Given the description of an element on the screen output the (x, y) to click on. 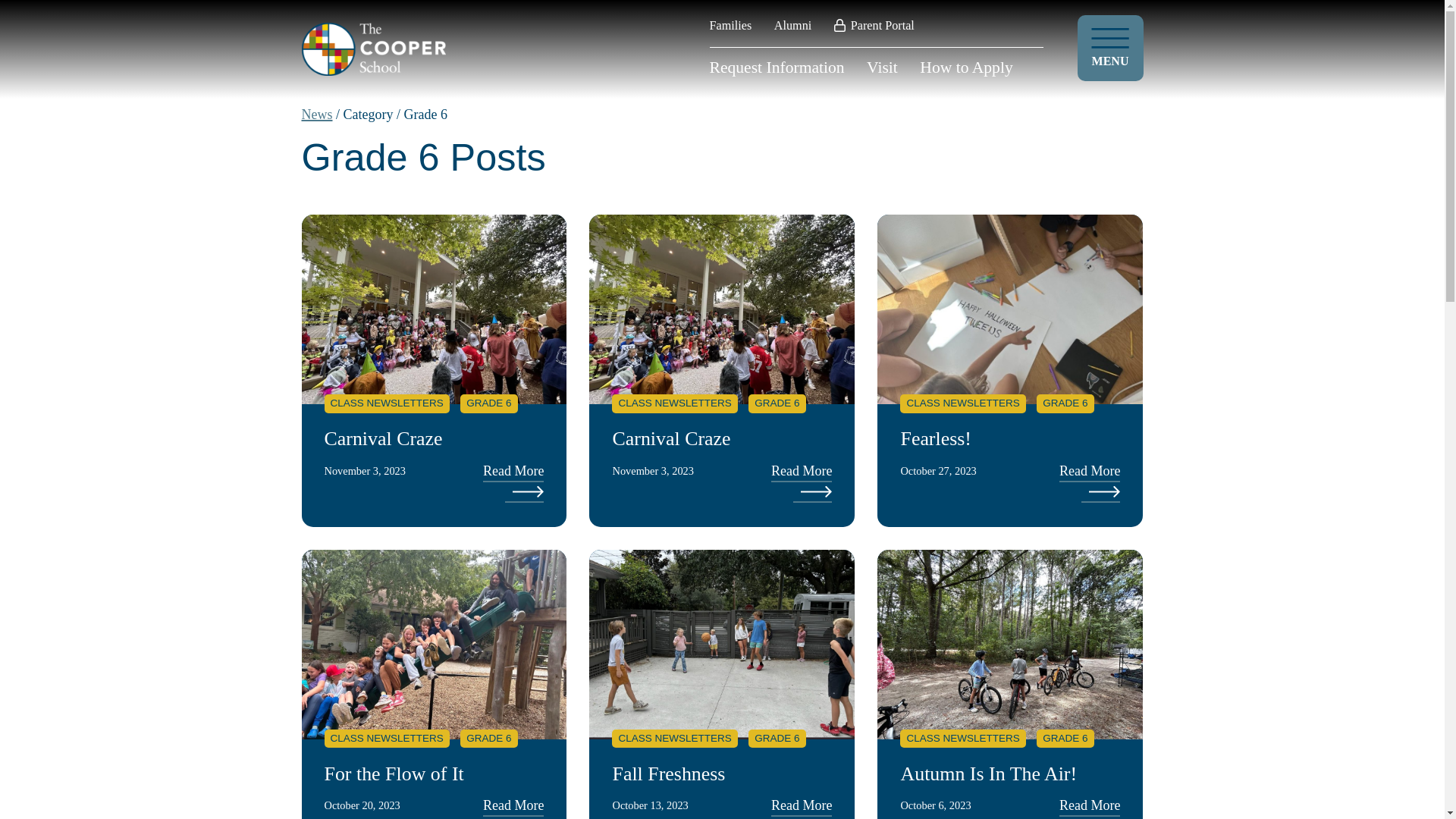
Parent Portal (874, 25)
Visit (882, 67)
How to Apply (965, 67)
Alumni (792, 25)
Families (731, 25)
MENU (1109, 48)
Request Information (777, 67)
